Given the description of an element on the screen output the (x, y) to click on. 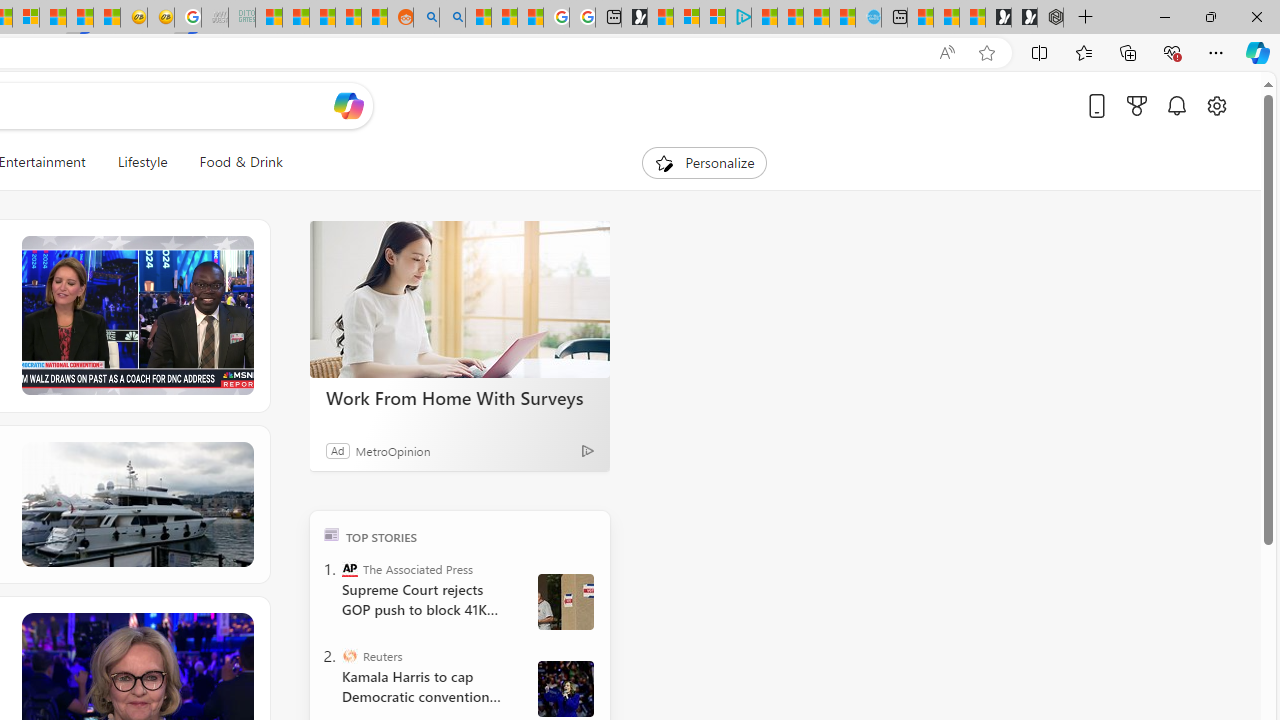
Utah sues federal government - Search (452, 17)
Navy Quest (214, 17)
Class: hero-image (136, 316)
Nordace - Nordace Siena Is Not An Ordinary Backpack (1050, 17)
